Given the description of an element on the screen output the (x, y) to click on. 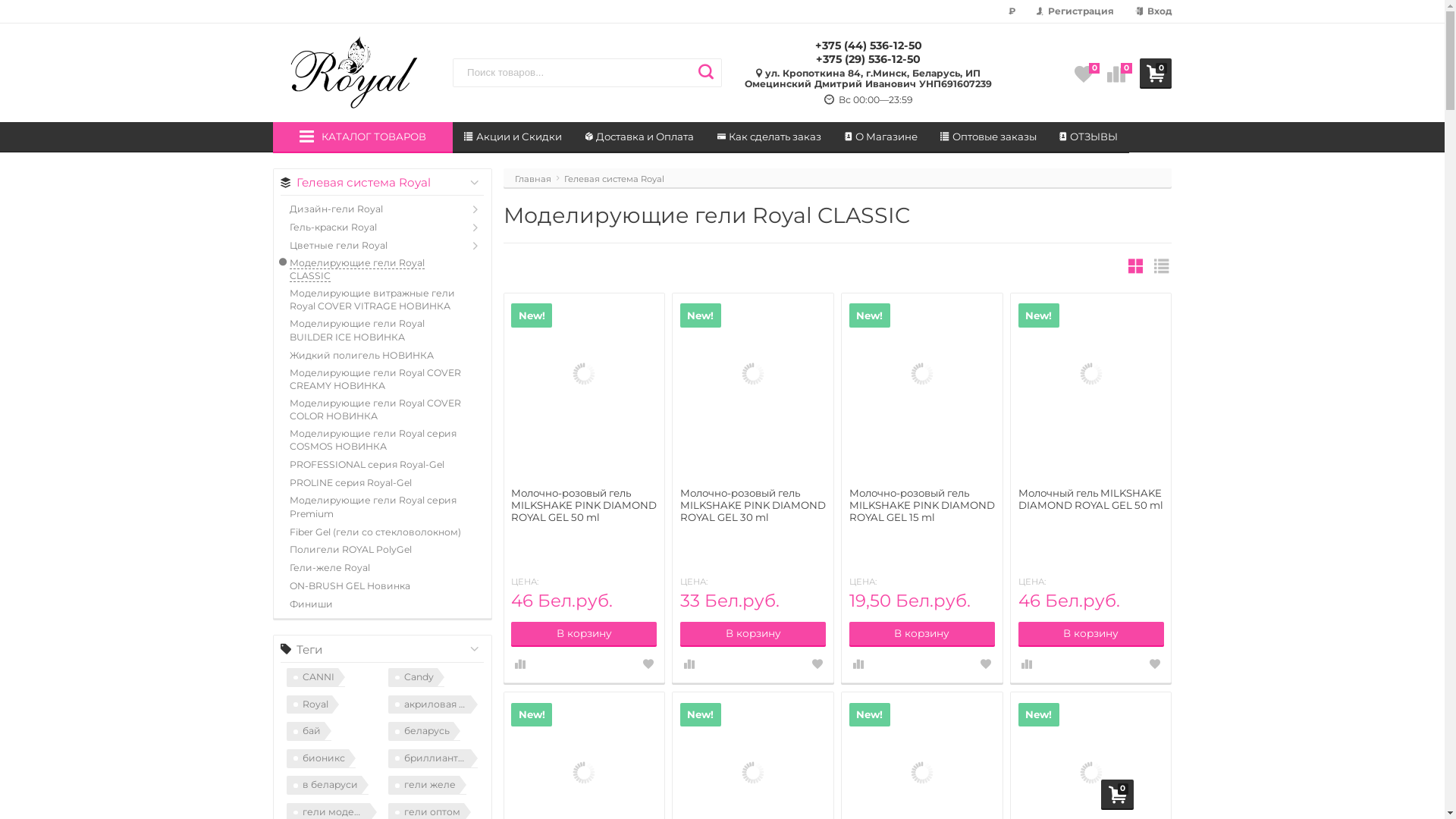
+375 (29) 536-12-50 Element type: text (867, 58)
0 Element type: text (1155, 72)
Royal Element type: text (312, 704)
0 Element type: text (1083, 72)
+375 (44) 536-12-50 Element type: text (868, 45)
0 Element type: text (1115, 72)
CANNI Element type: text (315, 677)
0 Element type: text (1117, 793)
Candy Element type: text (416, 677)
